Given the description of an element on the screen output the (x, y) to click on. 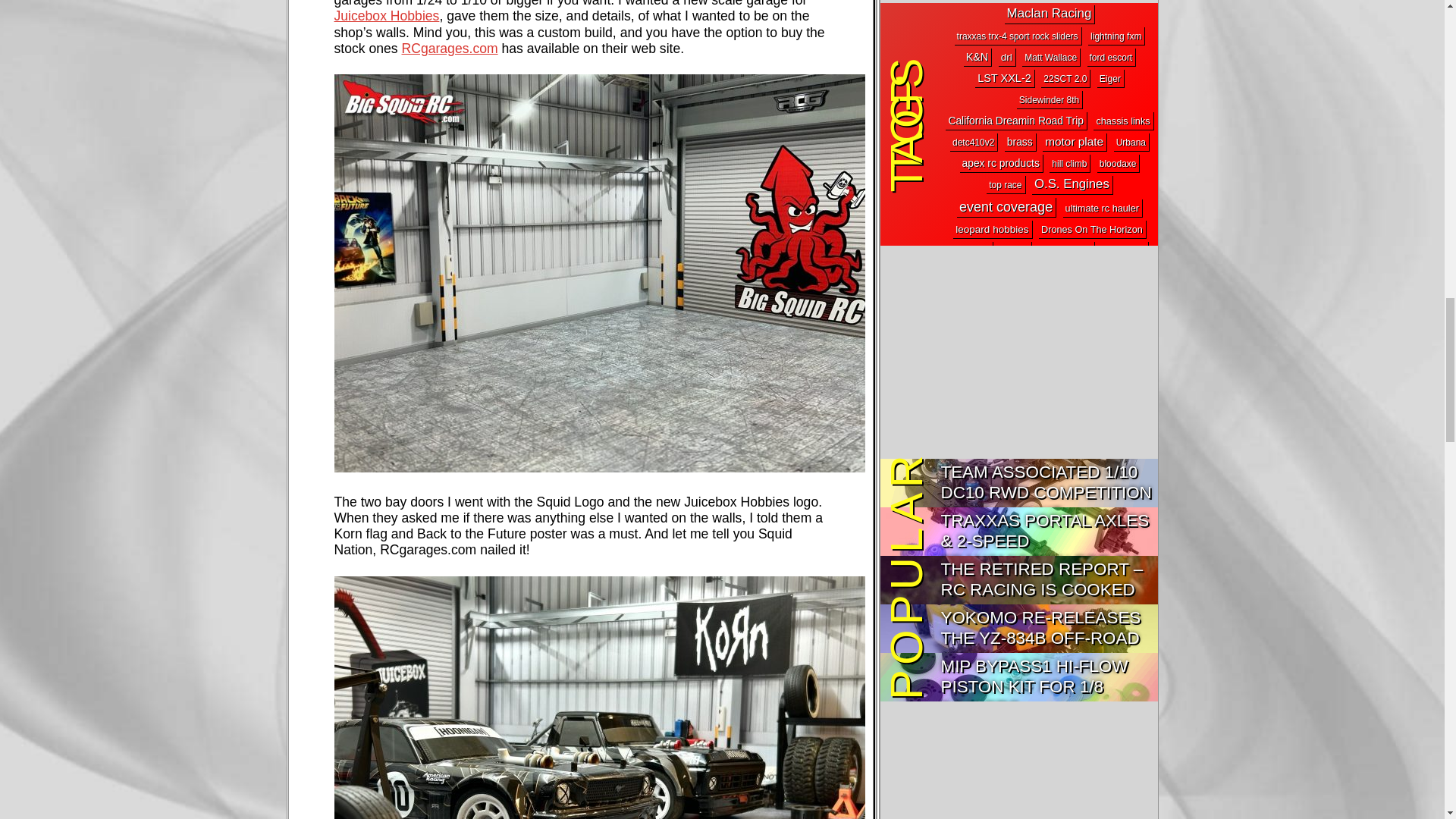
Juicebox Hobbies (386, 15)
RCgarages.com (449, 48)
